Given the description of an element on the screen output the (x, y) to click on. 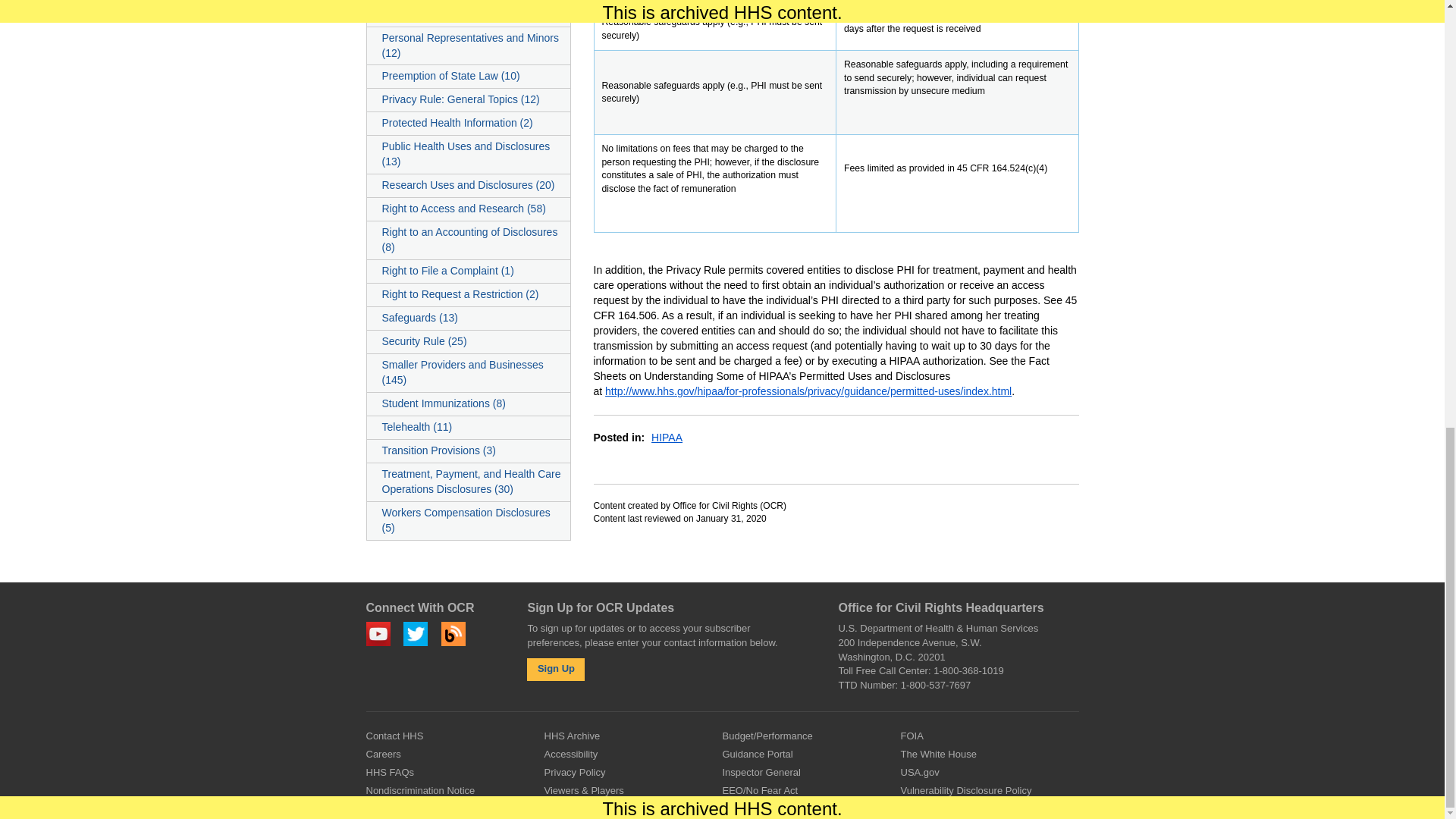
Sign Up (556, 669)
Visit the HHS Blog (453, 633)
Visit the HHS OCR YouTube account (377, 633)
Visit the HHS OCR Twitter account (415, 633)
